Given the description of an element on the screen output the (x, y) to click on. 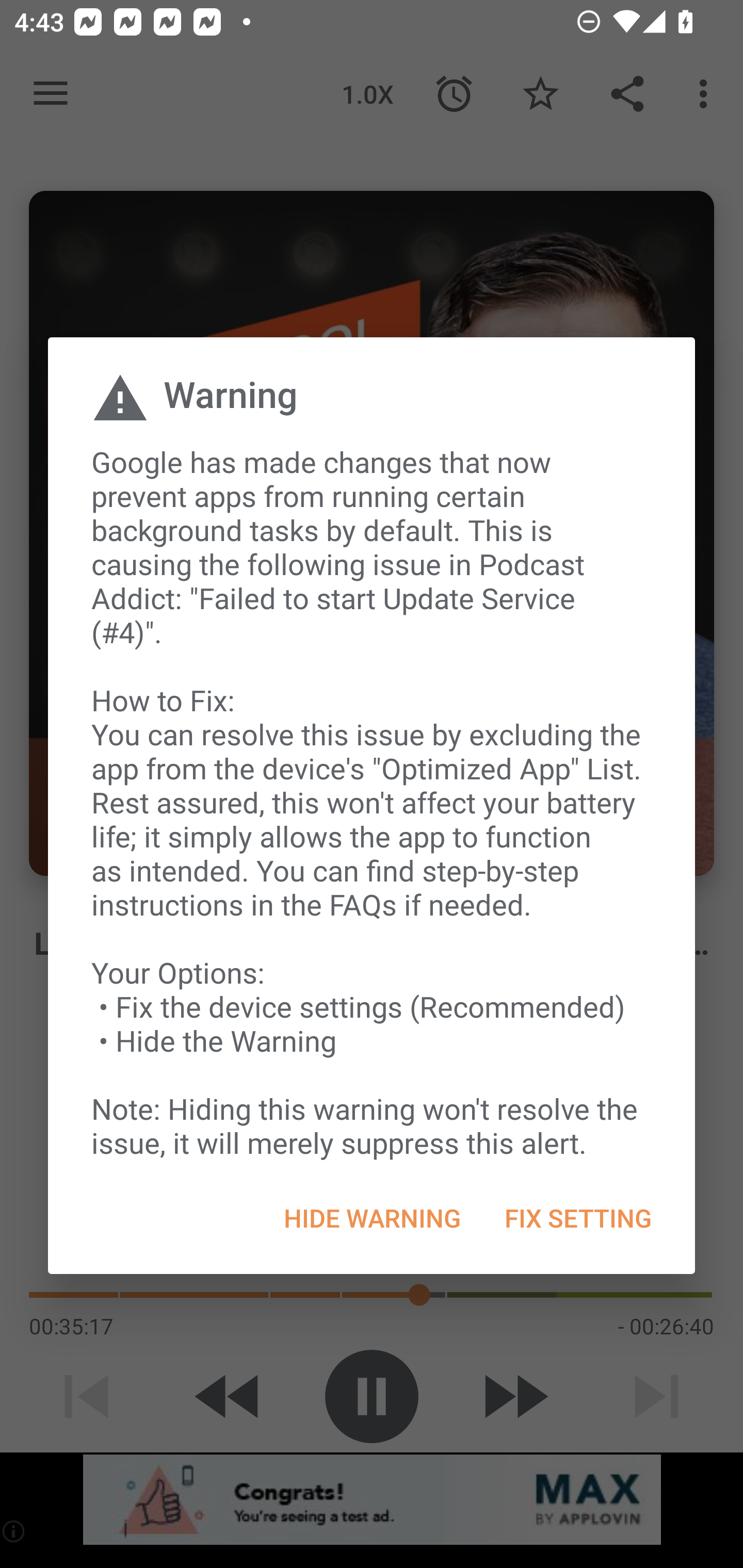
HIDE WARNING (372, 1217)
FIX SETTING (577, 1217)
